Given the description of an element on the screen output the (x, y) to click on. 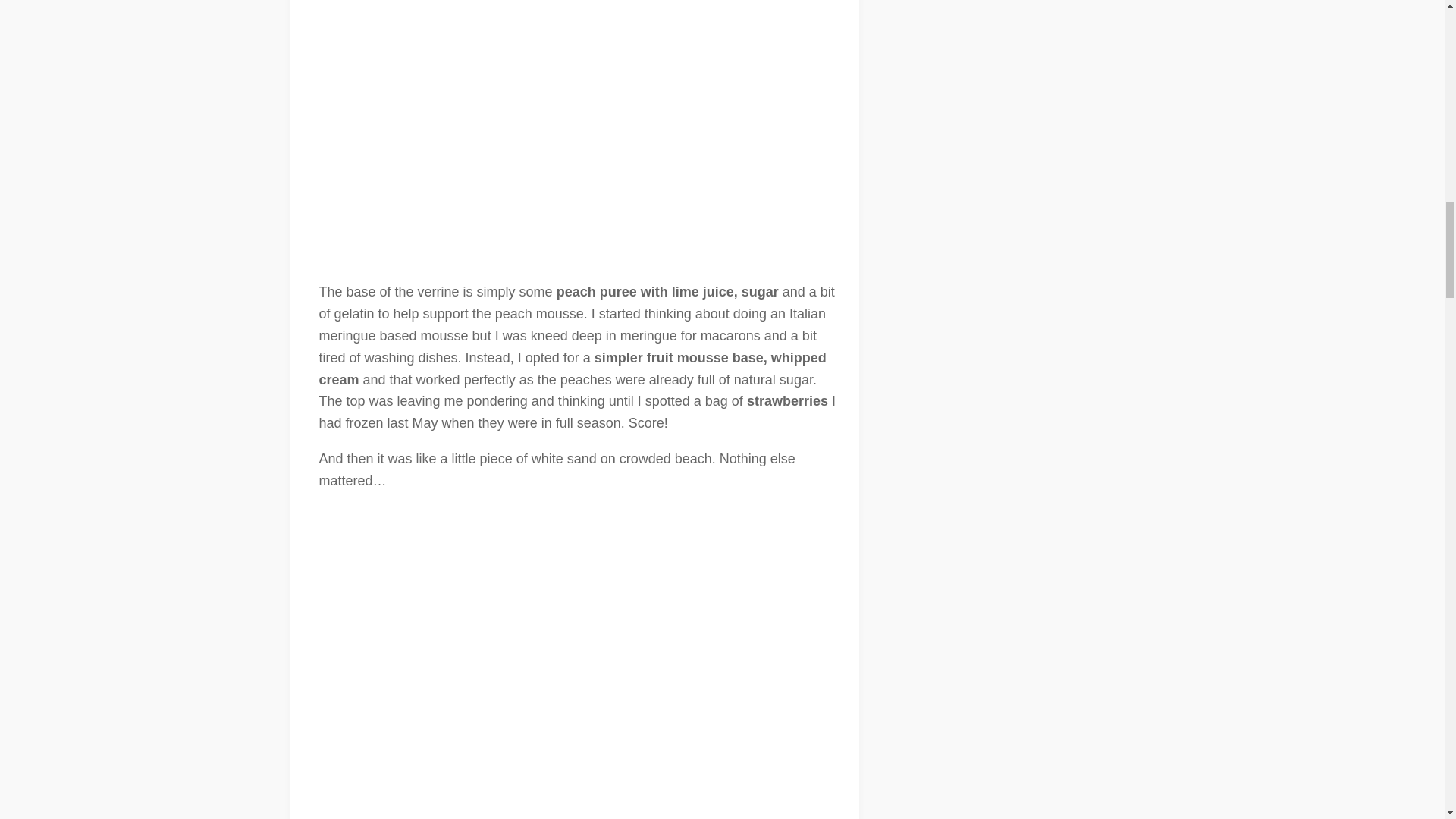
Baking Feels Just Like Velvet by tartelette, on Flickr (580, 123)
